Given the description of an element on the screen output the (x, y) to click on. 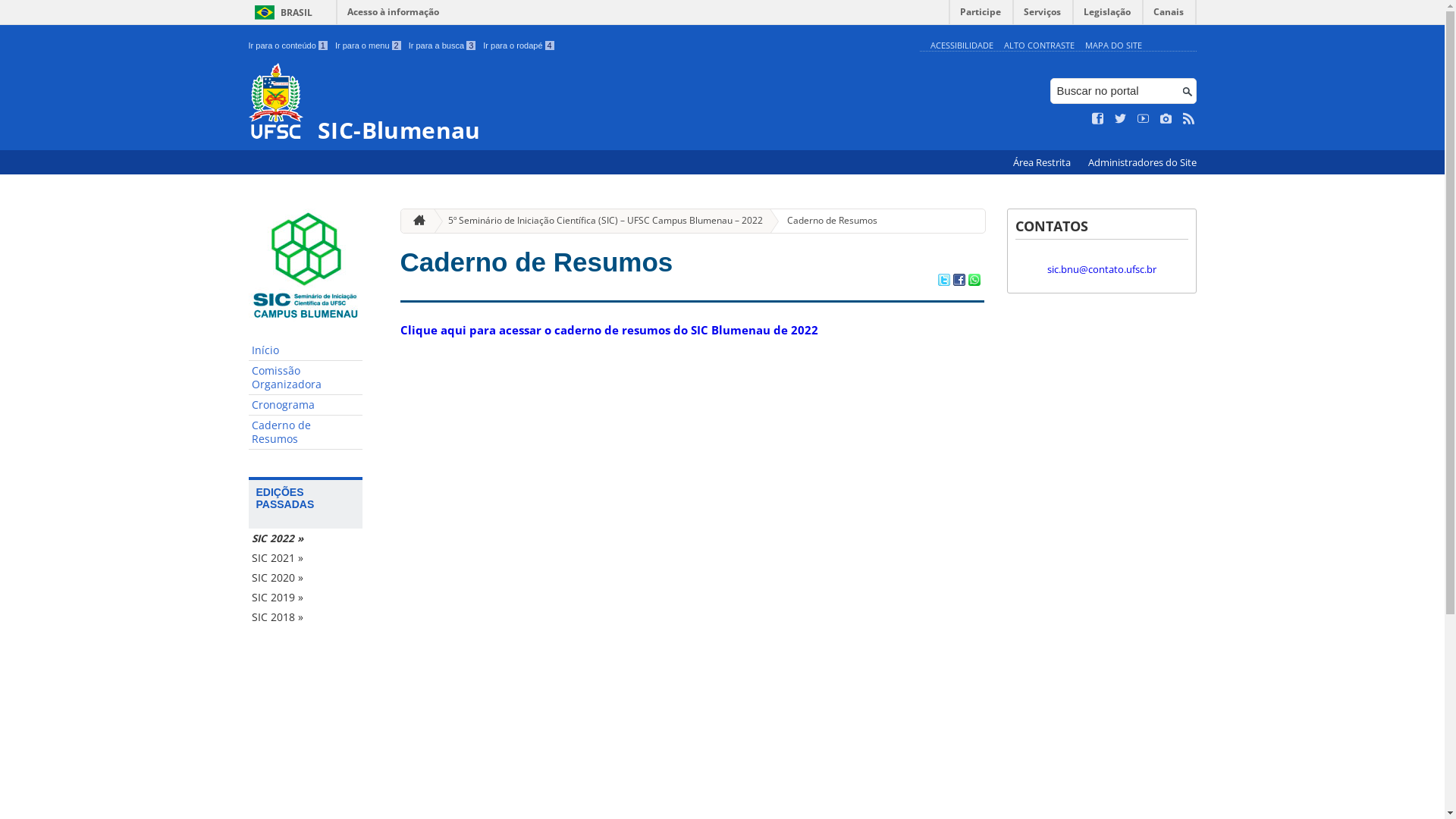
Ir para o menu 2 Element type: text (368, 45)
Veja no Instagram Element type: hover (1166, 118)
Caderno de Resumos Element type: text (825, 220)
Compartilhar no Facebook Element type: hover (958, 280)
Caderno de Resumos Element type: text (305, 432)
ALTO CONTRASTE Element type: text (1039, 44)
ACESSIBILIDADE Element type: text (960, 44)
Cronograma Element type: text (305, 405)
Canais Element type: text (1169, 15)
Ir para a busca 3 Element type: text (442, 45)
BRASIL Element type: text (280, 12)
Participe Element type: text (980, 15)
Caderno de Resumos Element type: text (536, 261)
Administradores do Site Element type: text (1141, 162)
sic.bnu@contato.ufsc.br Element type: text (1100, 269)
SIC-Blumenau Element type: text (580, 102)
MAPA DO SITE Element type: text (1112, 44)
Compartilhar no Twitter Element type: hover (943, 280)
Compartilhar no WhatsApp Element type: hover (973, 280)
Siga no Twitter Element type: hover (1120, 118)
Curta no Facebook Element type: hover (1098, 118)
